Given the description of an element on the screen output the (x, y) to click on. 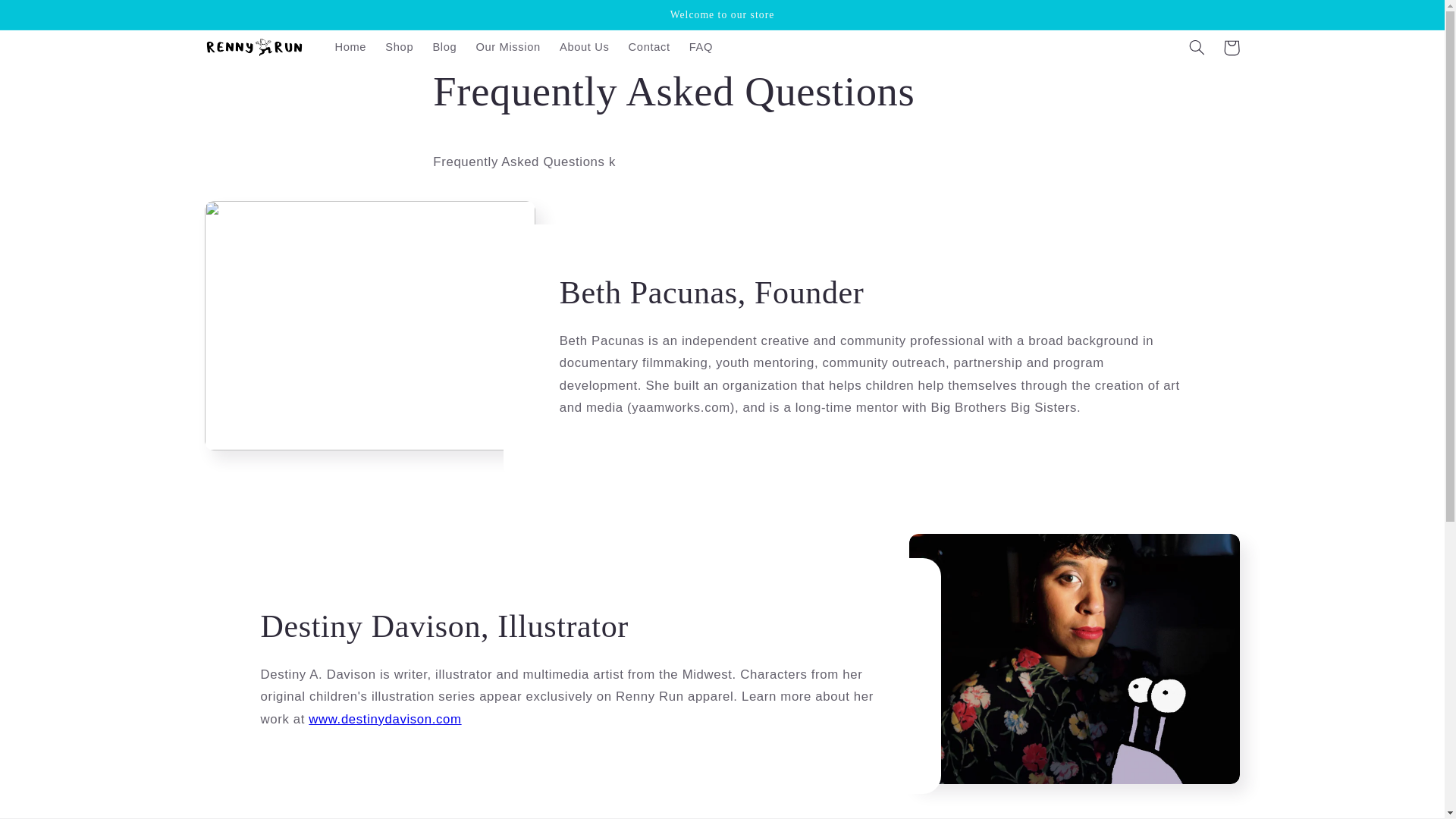
Blog (444, 47)
Skip to content (48, 18)
Our Mission (507, 47)
www.destinydavison.com (384, 718)
FAQ (700, 47)
About Us (584, 47)
Cart (1231, 47)
Contact (648, 47)
Home (349, 47)
Shop (399, 47)
